Given the description of an element on the screen output the (x, y) to click on. 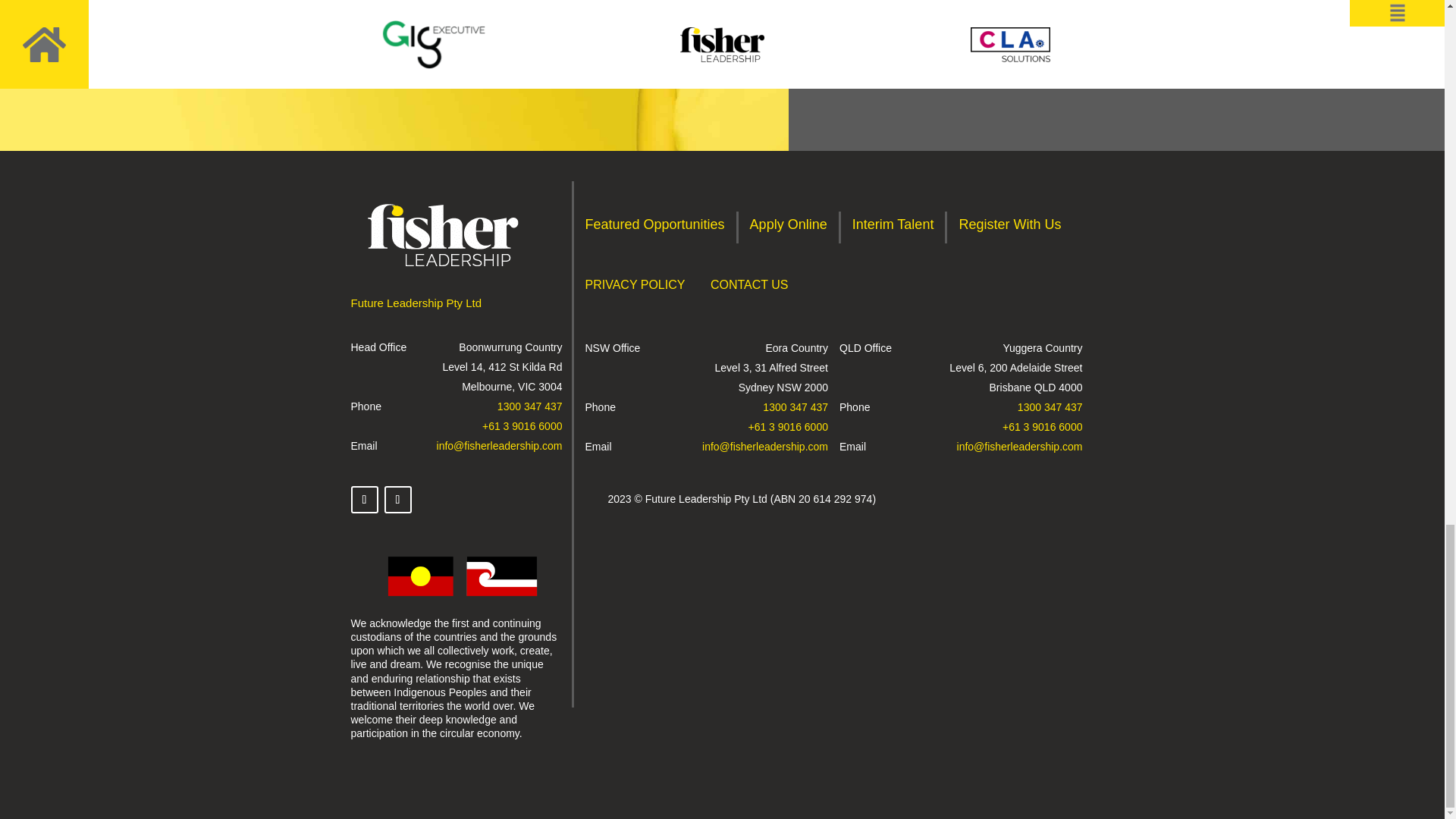
Follow on X (363, 499)
Follow on LinkedIn (397, 499)
foot-logo (443, 234)
Untitled design-3 (461, 575)
